Given the description of an element on the screen output the (x, y) to click on. 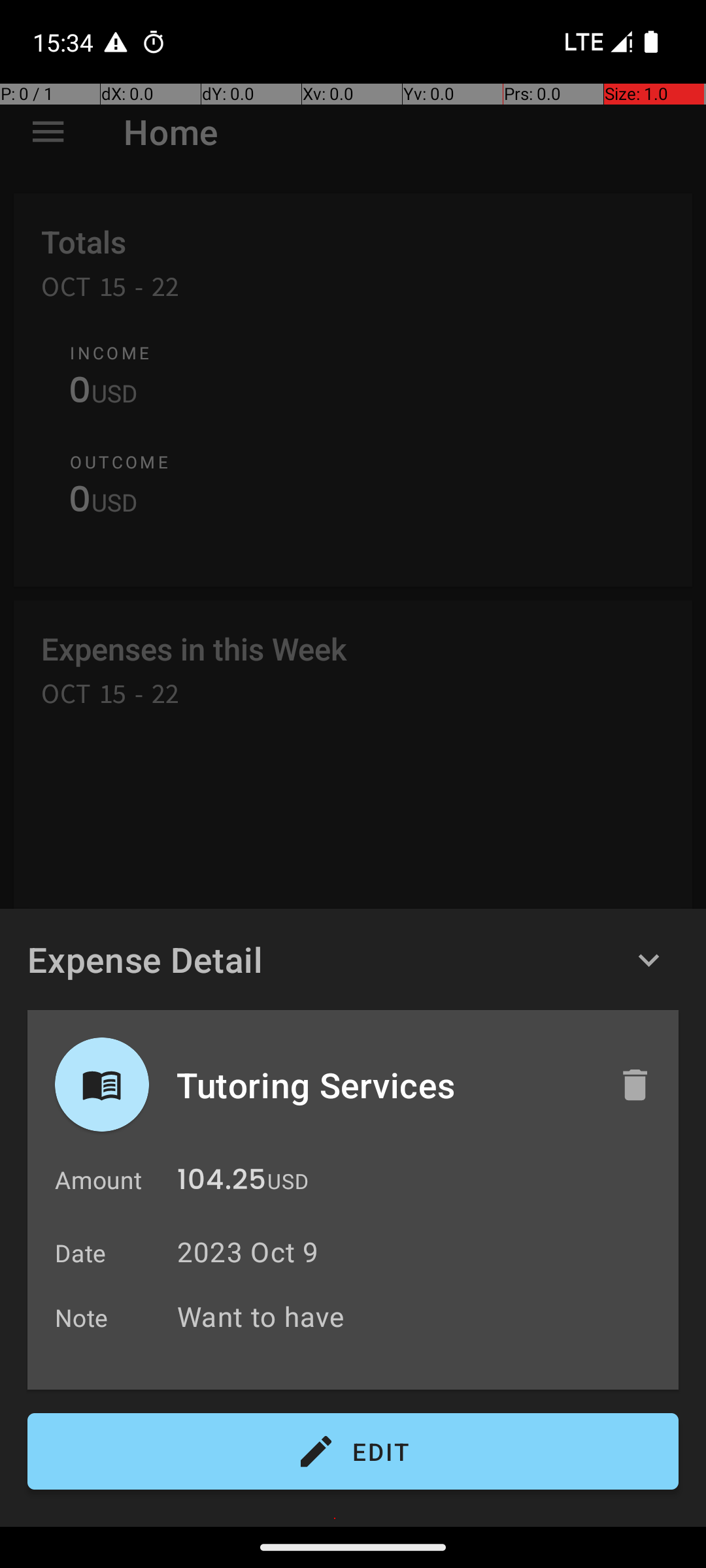
Tutoring Services Element type: android.widget.TextView (383, 1084)
104.25 Element type: android.widget.TextView (221, 1182)
2023 Oct 9 Element type: android.widget.TextView (247, 1251)
Want to have Element type: android.widget.TextView (420, 1315)
